Given the description of an element on the screen output the (x, y) to click on. 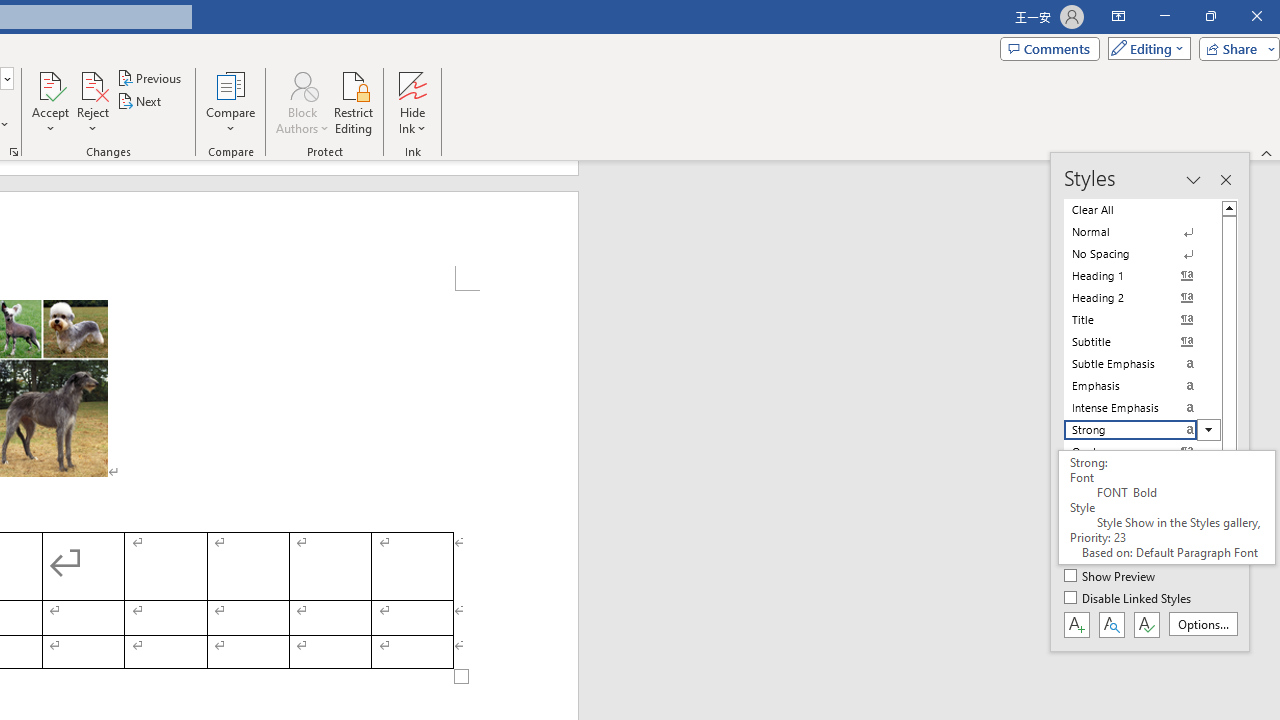
Block Authors (302, 84)
Subtle Emphasis (1142, 363)
Reject and Move to Next (92, 84)
